Given the description of an element on the screen output the (x, y) to click on. 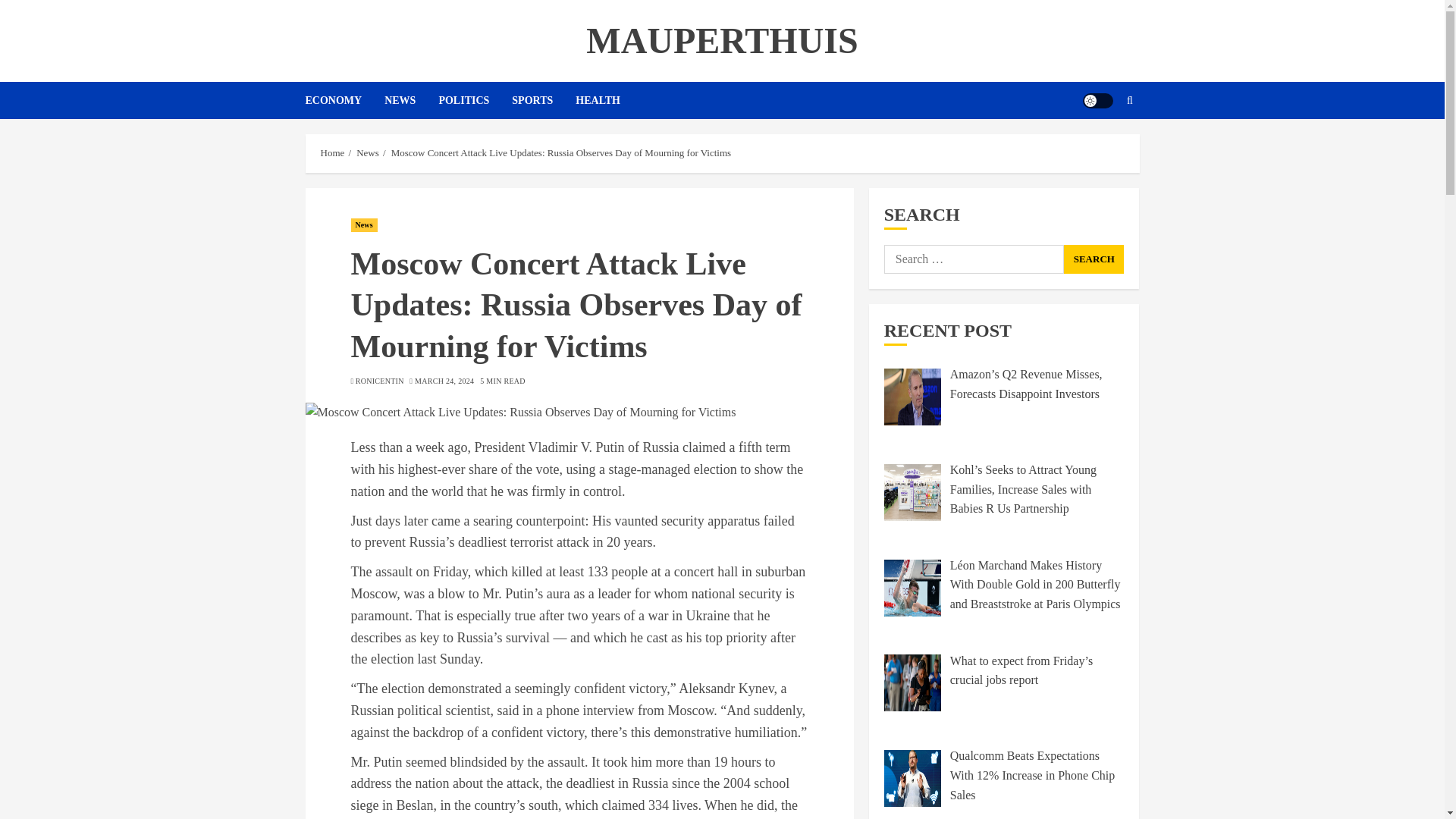
News (363, 224)
NEWS (411, 99)
Search (1130, 100)
Search (1094, 258)
ECONOMY (344, 99)
MAUPERTHUIS (721, 40)
Search (1099, 145)
News (367, 152)
POLITICS (475, 99)
SPORTS (543, 99)
Home (331, 152)
HEALTH (597, 99)
RONICENTIN (379, 380)
